Given the description of an element on the screen output the (x, y) to click on. 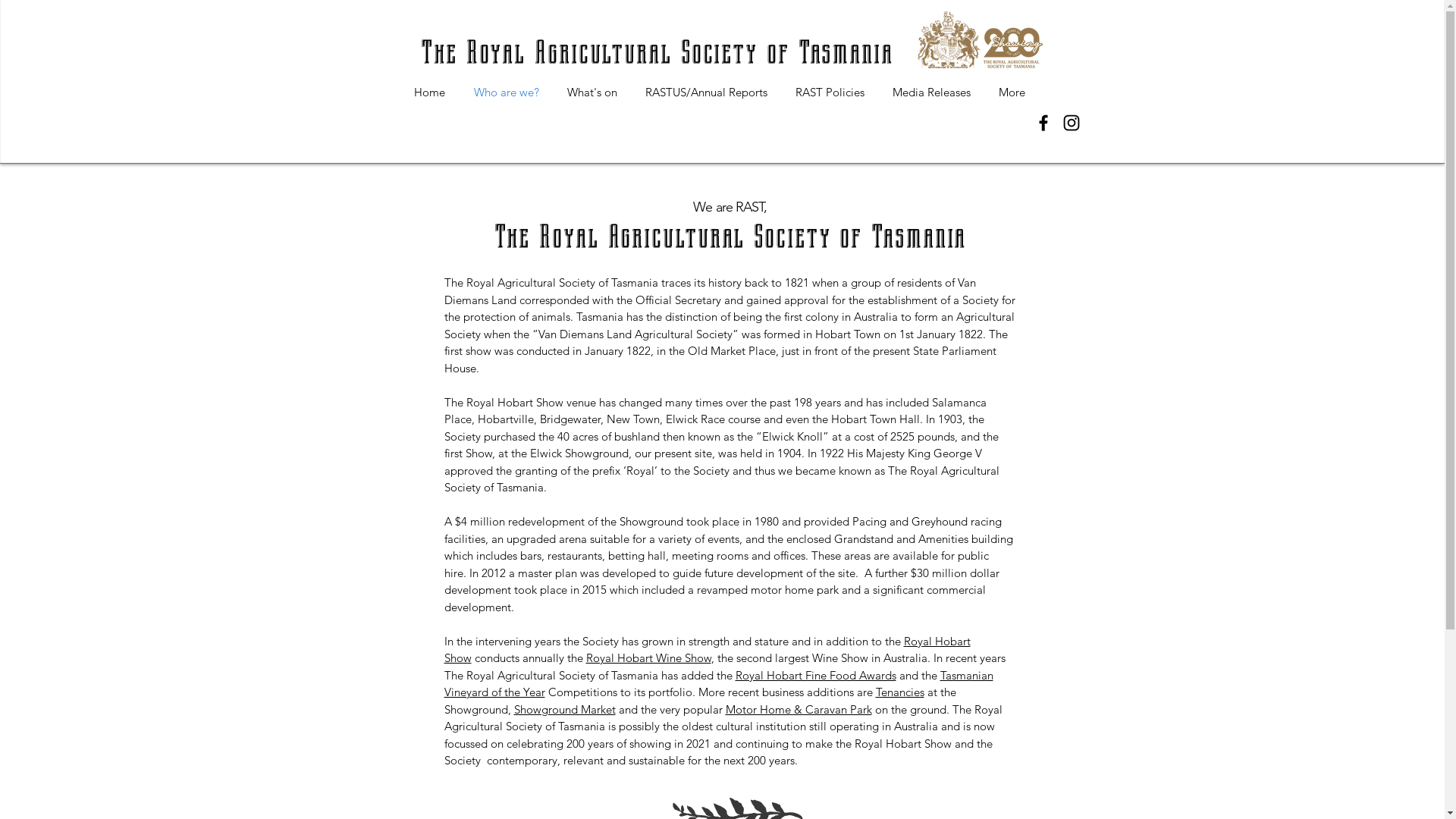
Tenancies Element type: text (899, 691)
RAST Policies Element type: text (829, 92)
Who are we? Element type: text (506, 92)
What's on Element type: text (592, 92)
Media Releases Element type: text (931, 92)
RASTUS/Annual Reports Element type: text (705, 92)
Home Element type: text (428, 92)
Showground Market Element type: text (564, 709)
Royal Hobart Fine Food Awards Element type: text (815, 674)
Tasmanian Vineyard of the Year Element type: text (718, 683)
Motor Home & Caravan Park Element type: text (797, 709)
Royal Hobart Wine Show Element type: text (647, 657)
Royal Hobart Show Element type: text (707, 649)
